Given the description of an element on the screen output the (x, y) to click on. 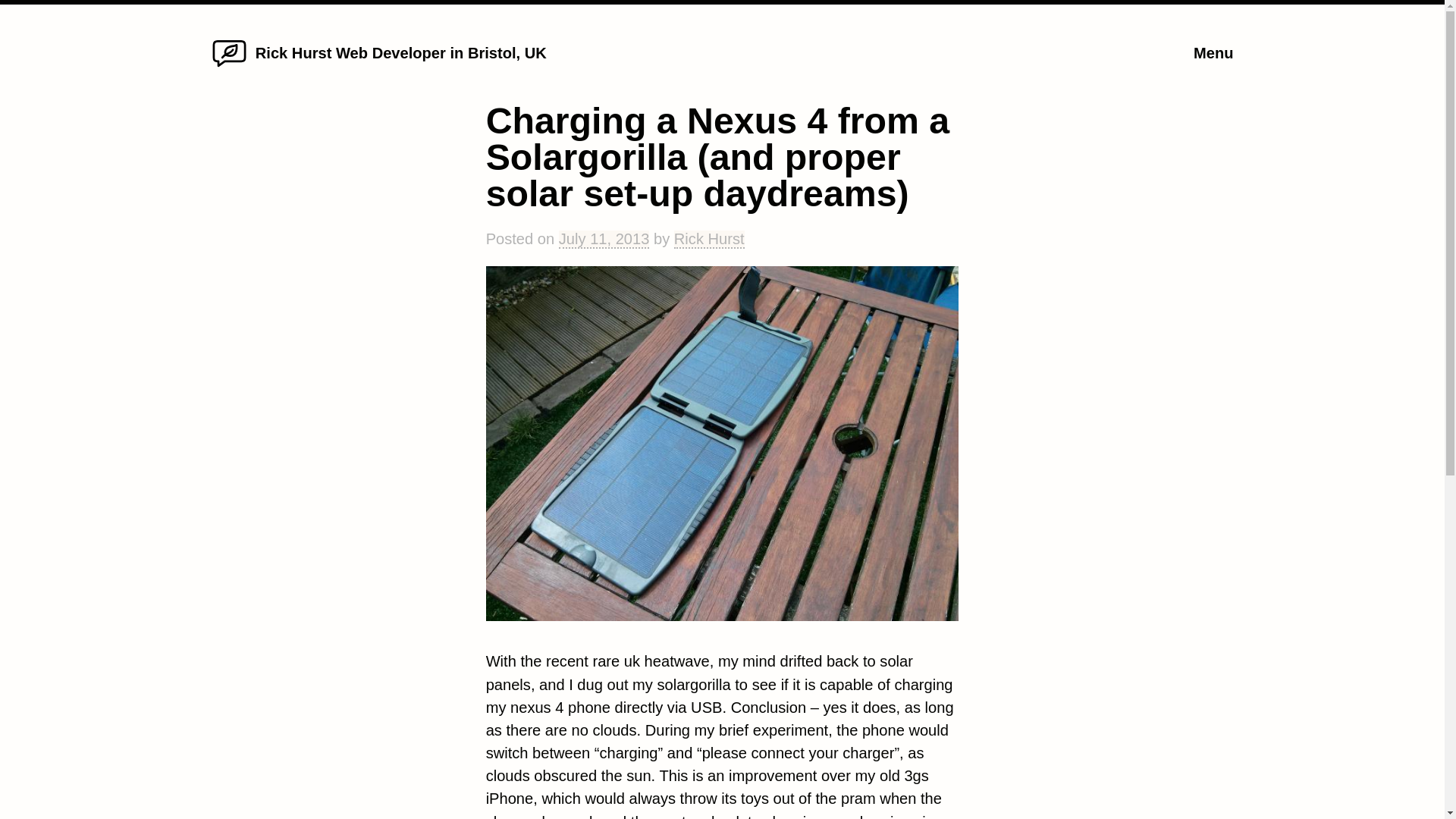
Home (229, 66)
Menu (1213, 52)
Rick Hurst Web Developer in Bristol, UK (401, 53)
Rick Hurst (709, 239)
July 11, 2013 (604, 239)
